Given the description of an element on the screen output the (x, y) to click on. 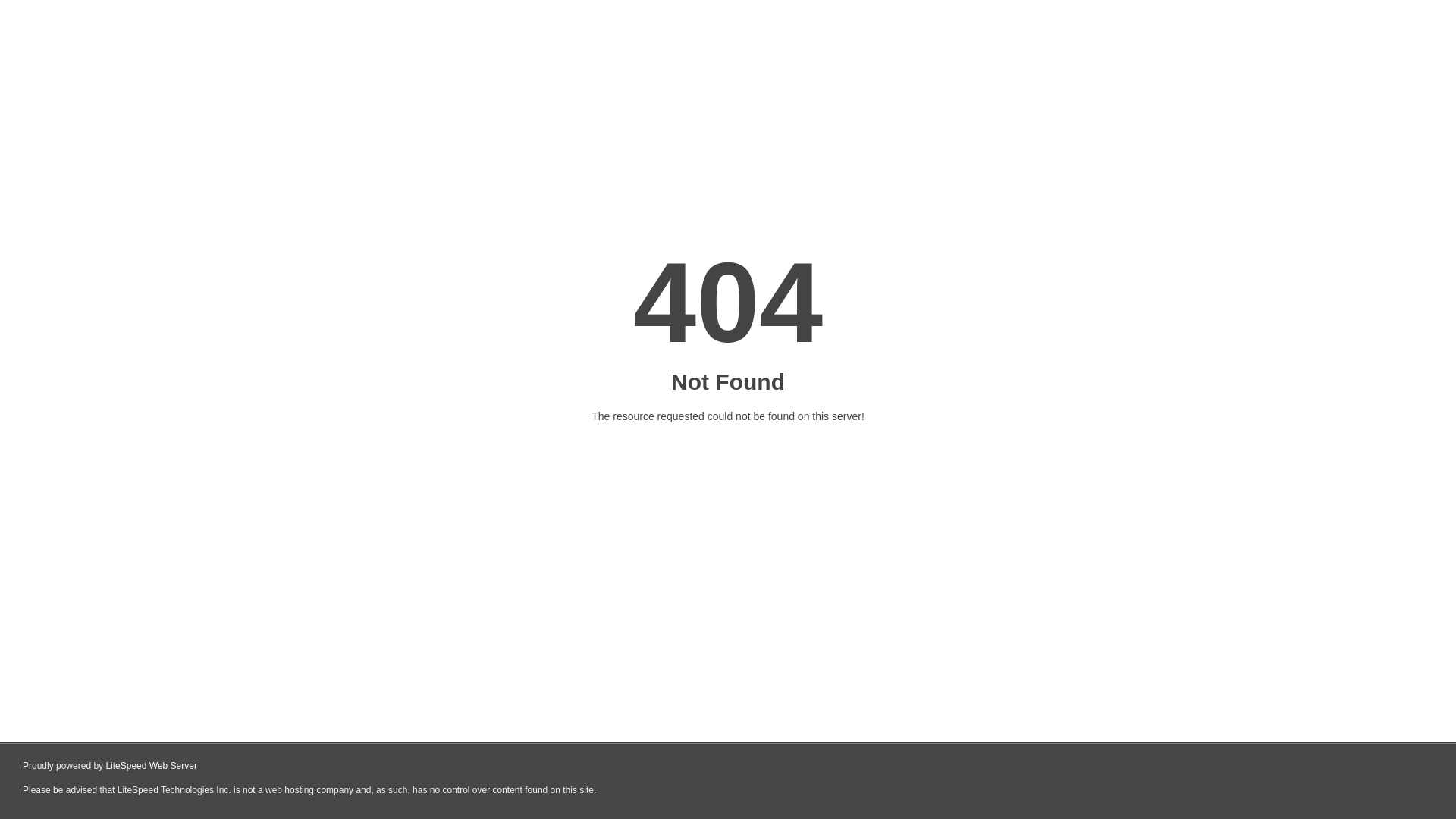
LiteSpeed Web Server Element type: text (151, 765)
